Given the description of an element on the screen output the (x, y) to click on. 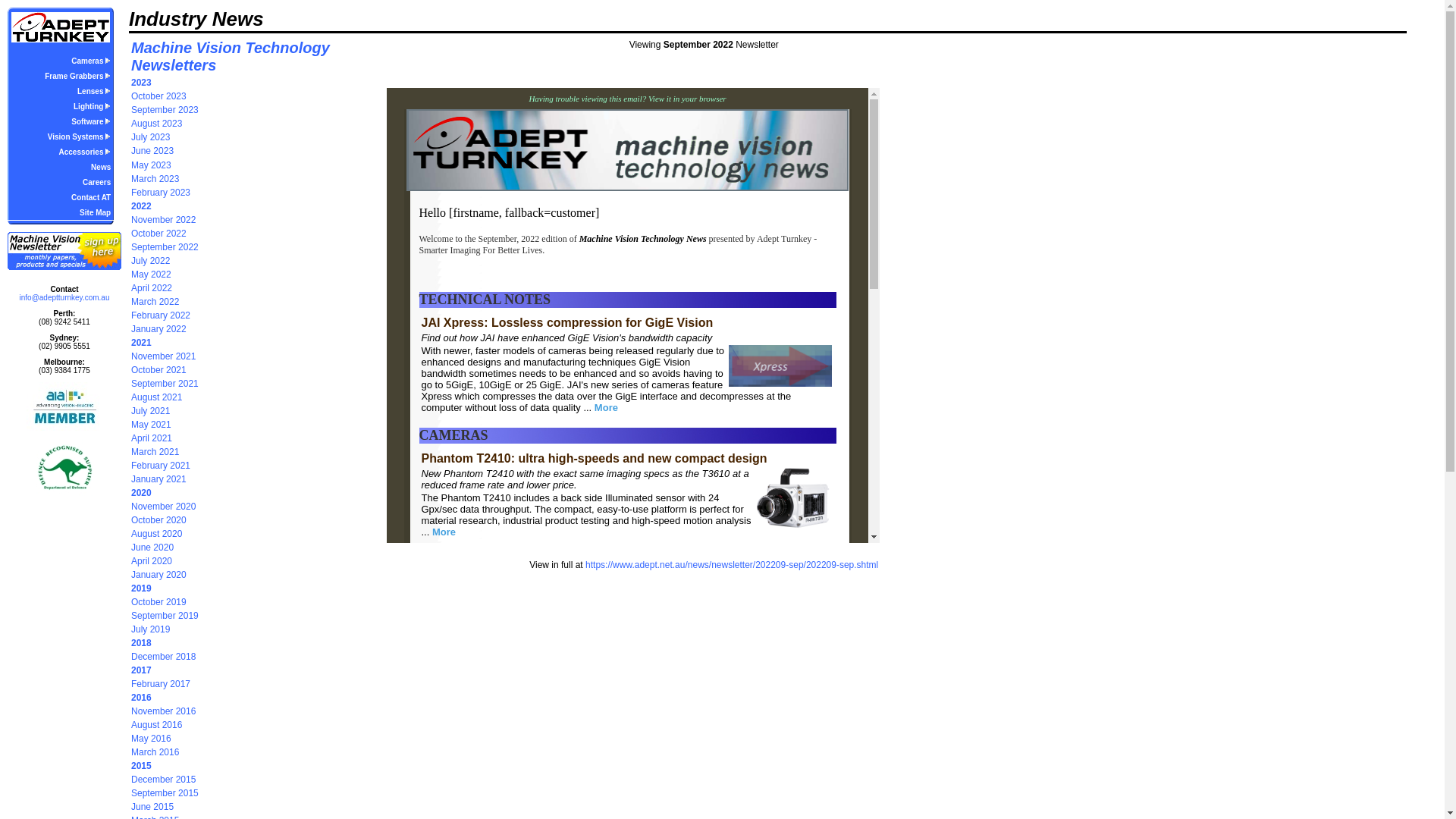
2020 Element type: text (141, 492)
News Element type: text (100, 166)
July 2021 Element type: text (150, 410)
November 2021 Element type: text (163, 356)
Contact AT Element type: text (90, 196)
June 2023 Element type: text (152, 150)
July 2022 Element type: text (150, 260)
September 2023 Element type: text (164, 109)
2022 Element type: text (141, 205)
Software Element type: text (90, 120)
April 2021 Element type: text (151, 438)
April 2022 Element type: text (151, 287)
January 2021 Element type: text (158, 478)
2016 Element type: text (141, 697)
June 2015 Element type: text (152, 806)
October 2020 Element type: text (158, 519)
December 2018 Element type: text (163, 656)
October 2022 Element type: text (158, 233)
January 2022 Element type: text (158, 328)
March 2022 Element type: text (154, 301)
February 2017 Element type: text (160, 683)
2023 Element type: text (141, 82)
August 2023 Element type: text (156, 123)
July 2019 Element type: text (150, 629)
Vision Systems Element type: text (79, 135)
May 2021 Element type: text (151, 424)
September 2021 Element type: text (164, 383)
April 2020 Element type: text (151, 560)
October 2023 Element type: text (158, 96)
2019 Element type: text (141, 588)
February 2023 Element type: text (160, 192)
May 2016 Element type: text (151, 738)
July 2023 Element type: text (150, 136)
March 2023 Element type: text (154, 178)
September 2022 Element type: text (164, 246)
February 2022 Element type: text (160, 315)
November 2022 Element type: text (163, 219)
January 2020 Element type: text (158, 574)
Cameras Element type: text (90, 60)
November 2016 Element type: text (163, 711)
June 2020 Element type: text (152, 547)
Accessories Element type: text (85, 151)
October 2019 Element type: text (158, 601)
February 2021 Element type: text (160, 465)
November 2020 Element type: text (163, 506)
August 2020 Element type: text (156, 533)
2017 Element type: text (141, 670)
March 2016 Element type: text (154, 751)
August 2016 Element type: text (156, 724)
May 2023 Element type: text (151, 164)
September 2015 Element type: text (164, 792)
2018 Element type: text (141, 642)
info@adeptturnkey.com.au Element type: text (64, 297)
2021 Element type: text (141, 342)
May 2022 Element type: text (151, 274)
December 2015 Element type: text (163, 779)
Lighting Element type: text (91, 105)
March 2021 Element type: text (154, 451)
Careers Element type: text (96, 181)
go to AT Home Page - The Machine Vision Specialists Home Element type: hover (60, 27)
October 2021 Element type: text (158, 369)
Site Map Element type: text (94, 211)
August 2021 Element type: text (156, 397)
September 2019 Element type: text (164, 615)
Frame Grabbers Element type: text (77, 75)
Lenses Element type: text (93, 90)
2015 Element type: text (141, 765)
